Given the description of an element on the screen output the (x, y) to click on. 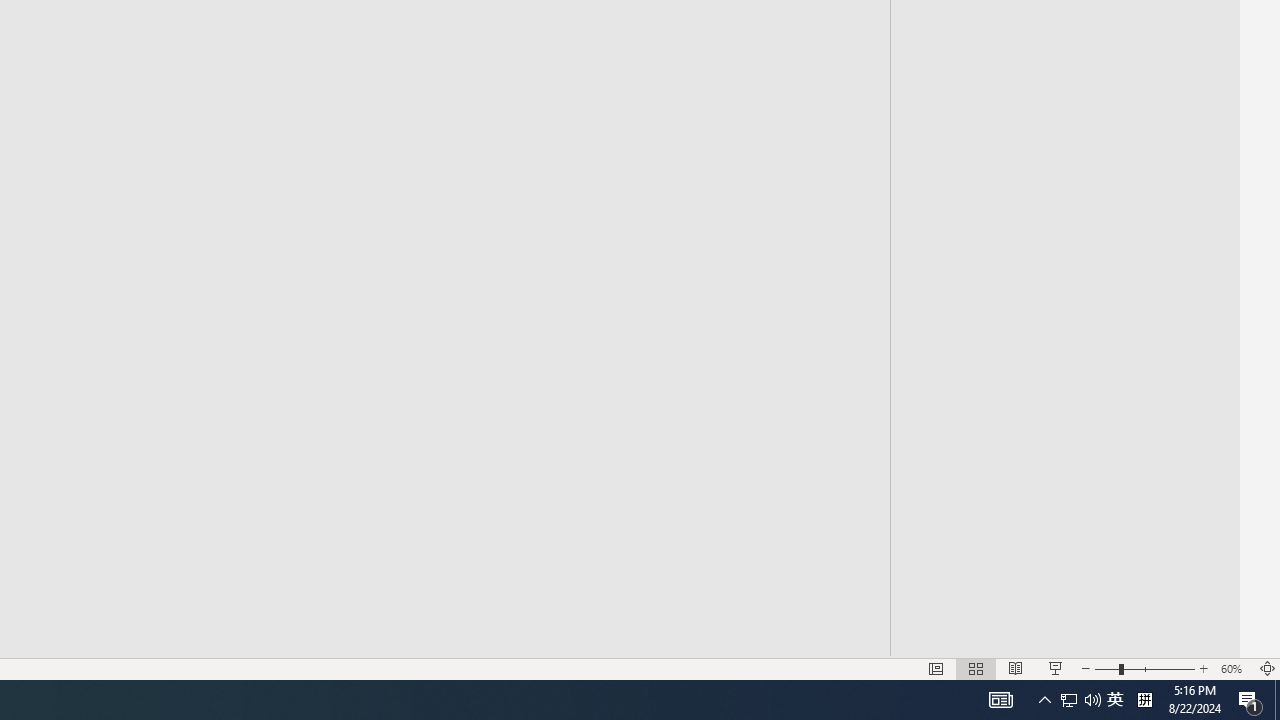
Wikipedia logo and symbol, meaning, history, PNG, brand (612, 422)
Wikipedia logo and symbol, meaning, history, PNG, brand (612, 422)
